Given the description of an element on the screen output the (x, y) to click on. 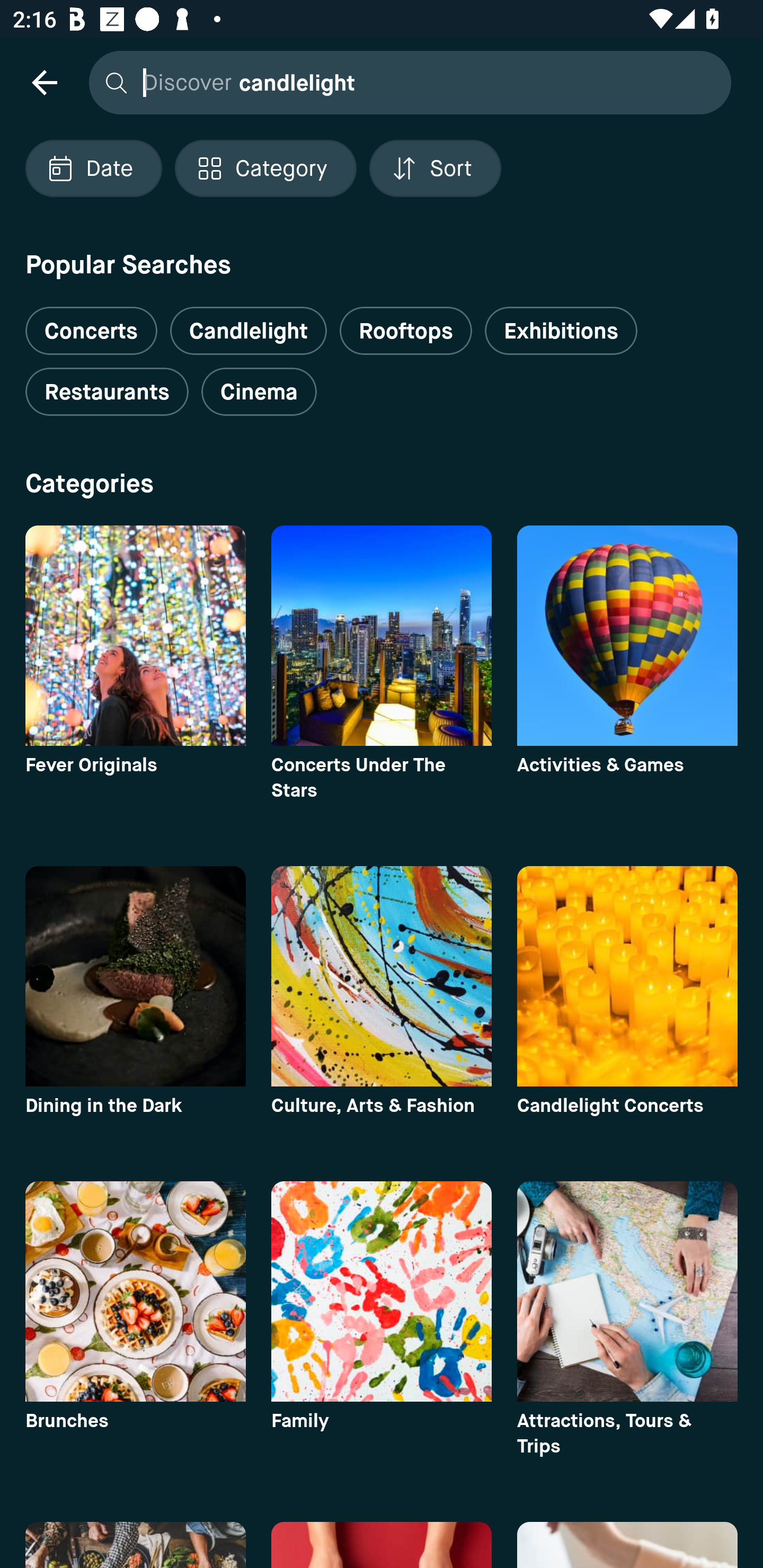
navigation icon (44, 81)
Discover candlelight (405, 81)
Localized description Date (93, 168)
Localized description Category (265, 168)
Localized description Sort (435, 168)
Concerts (91, 323)
Candlelight (248, 330)
Rooftops (405, 330)
Exhibitions (560, 330)
Restaurants (106, 391)
Cinema (258, 391)
category image (135, 635)
category image (381, 635)
category image (627, 635)
category image (135, 975)
category image (381, 975)
category image (627, 975)
category image (135, 1290)
category image (381, 1290)
category image (627, 1290)
